Given the description of an element on the screen output the (x, y) to click on. 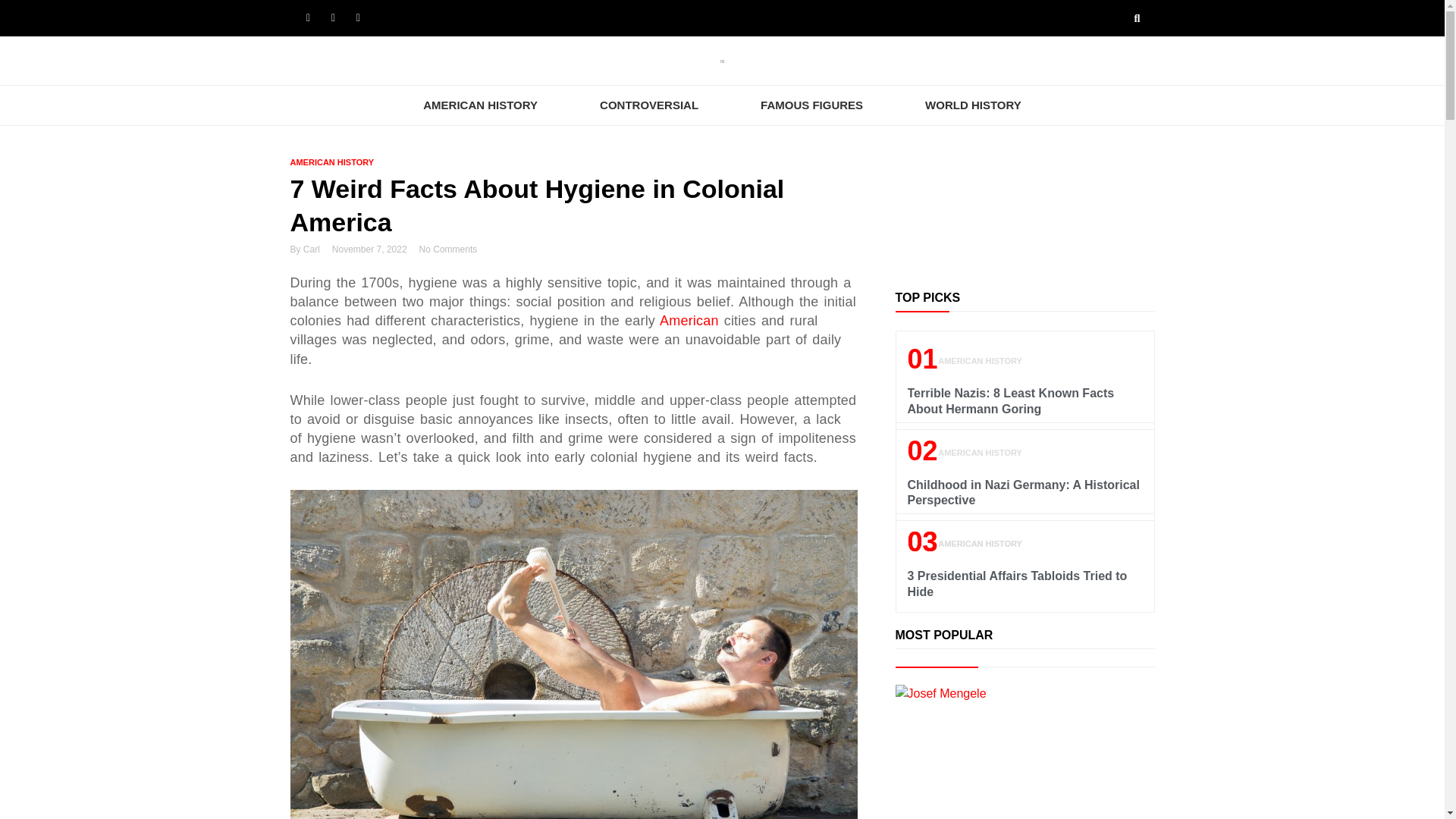
Terrible Nazis: 8 Least Known Facts About Hermann Goring (1010, 400)
American (689, 320)
WORLD HISTORY (972, 105)
3 Presidential Affairs Tabloids Tried to Hide (1016, 583)
FAMOUS FIGURES (811, 105)
AMERICAN HISTORY (480, 105)
Childhood in Nazi Germany: A Historical Perspective (1022, 492)
CONTROVERSIAL (649, 105)
